Given the description of an element on the screen output the (x, y) to click on. 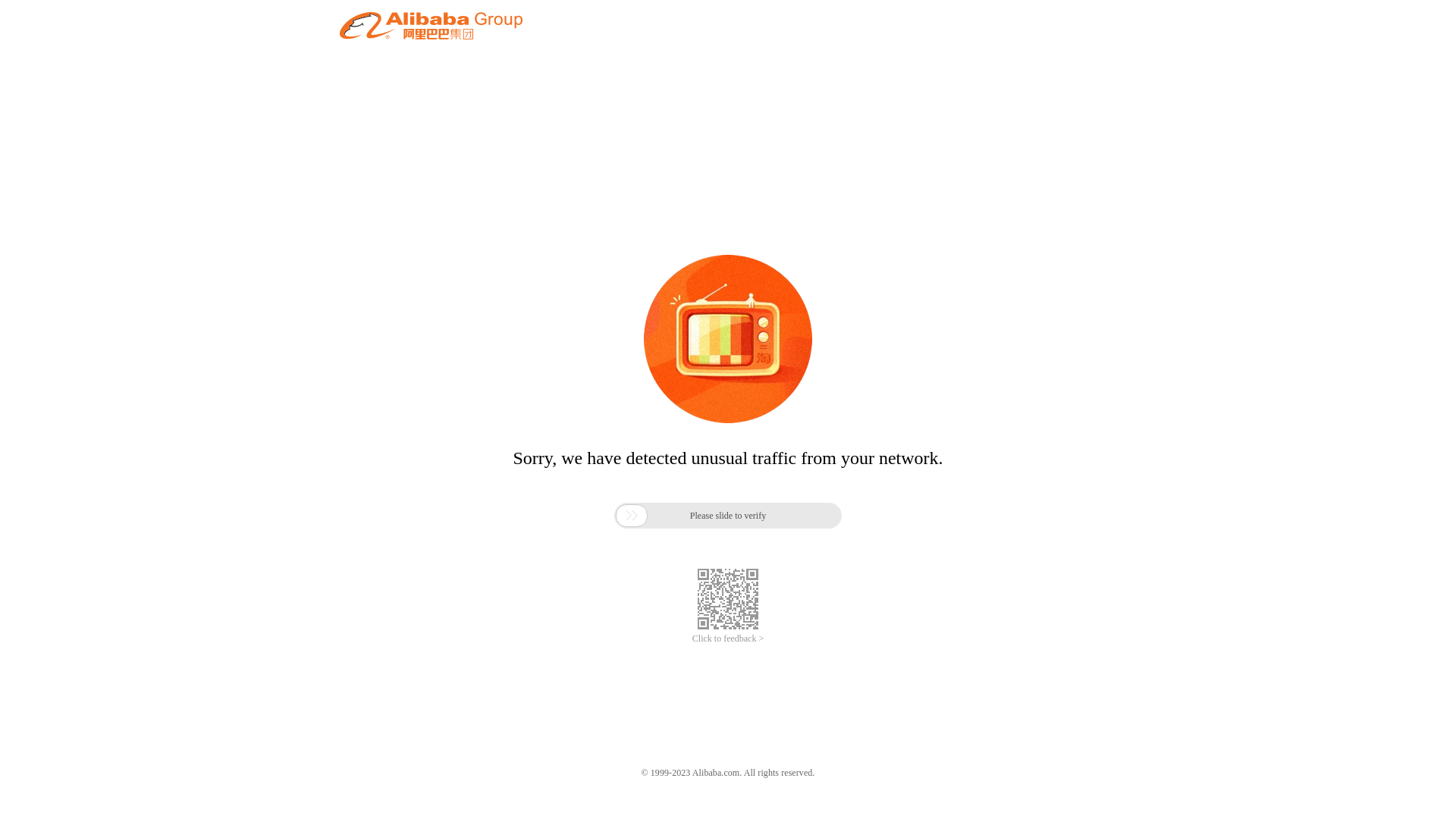
Click to feedback > Element type: text (727, 638)
